Given the description of an element on the screen output the (x, y) to click on. 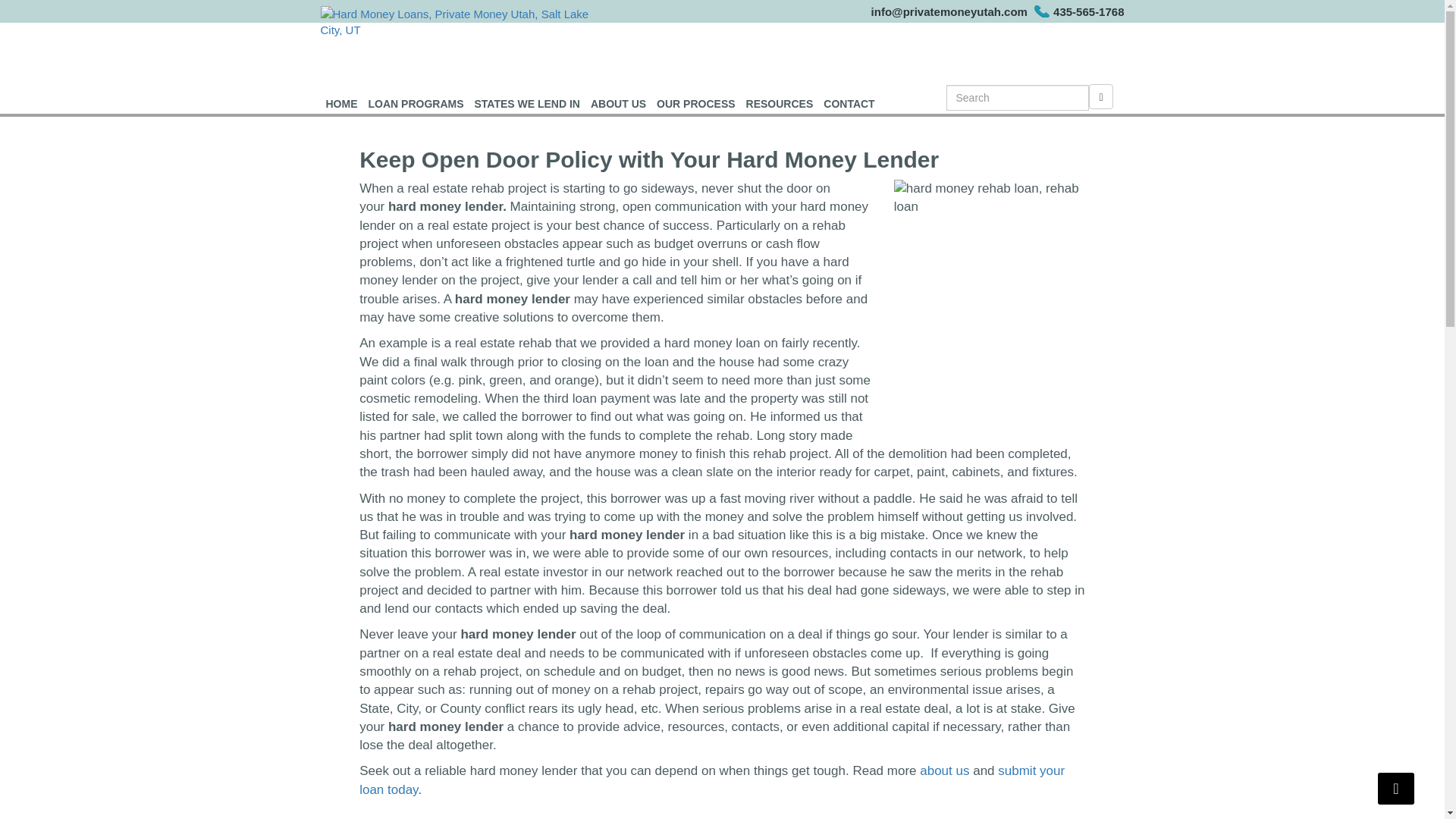
RESOURCES (779, 103)
CONTACT (848, 103)
435-565-1768 (1088, 11)
OUR PROCESS (694, 103)
LOAN PROGRAMS (415, 103)
ABOUT US (617, 103)
about us (946, 770)
STATES WE LEND IN (526, 103)
submit your loan today (711, 779)
HOME (341, 103)
